Given the description of an element on the screen output the (x, y) to click on. 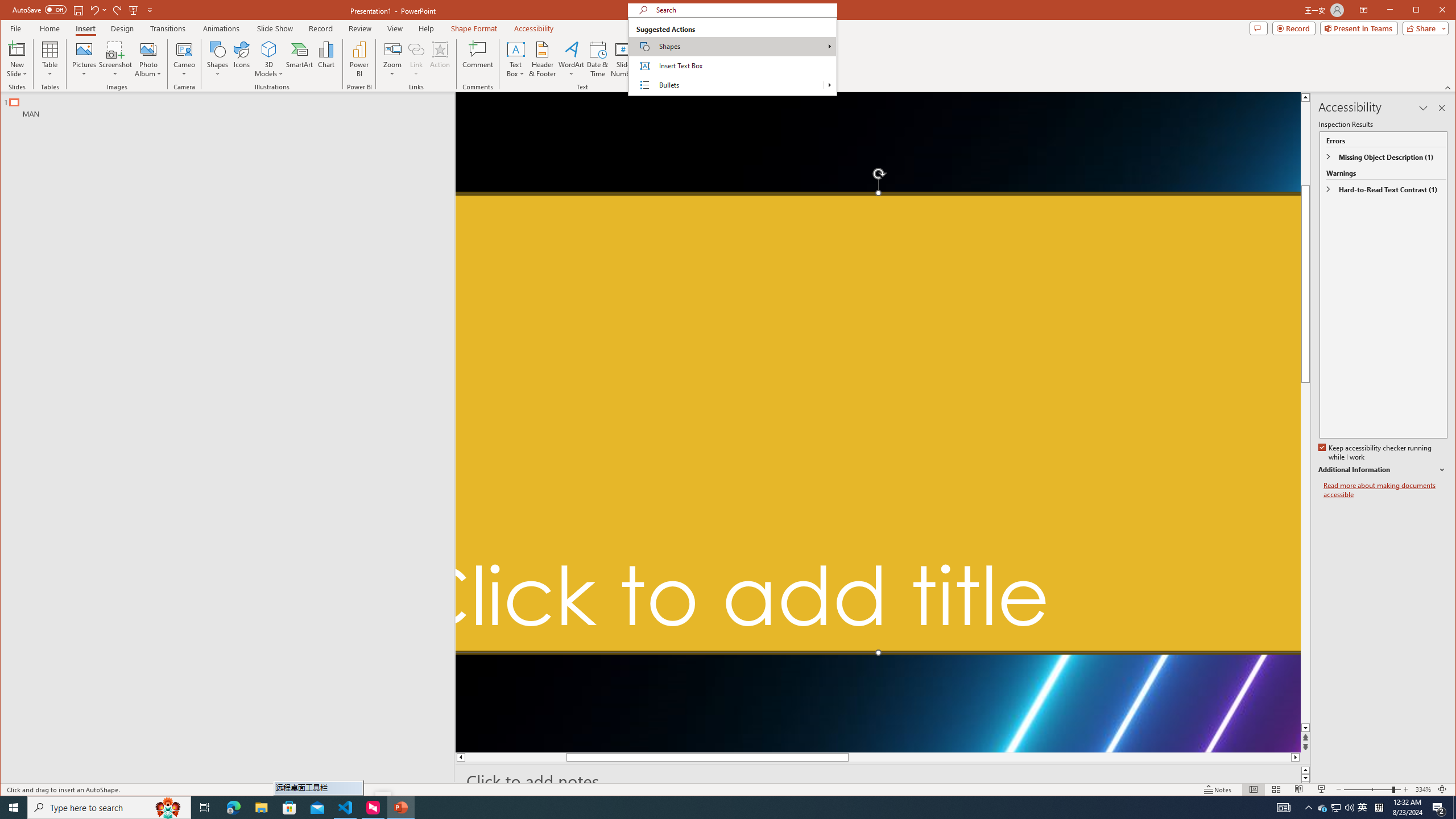
Neon laser lights aligned to form a triangle (877, 421)
Comment (478, 59)
Icons (241, 59)
Date & Time... (597, 59)
